Given the description of an element on the screen output the (x, y) to click on. 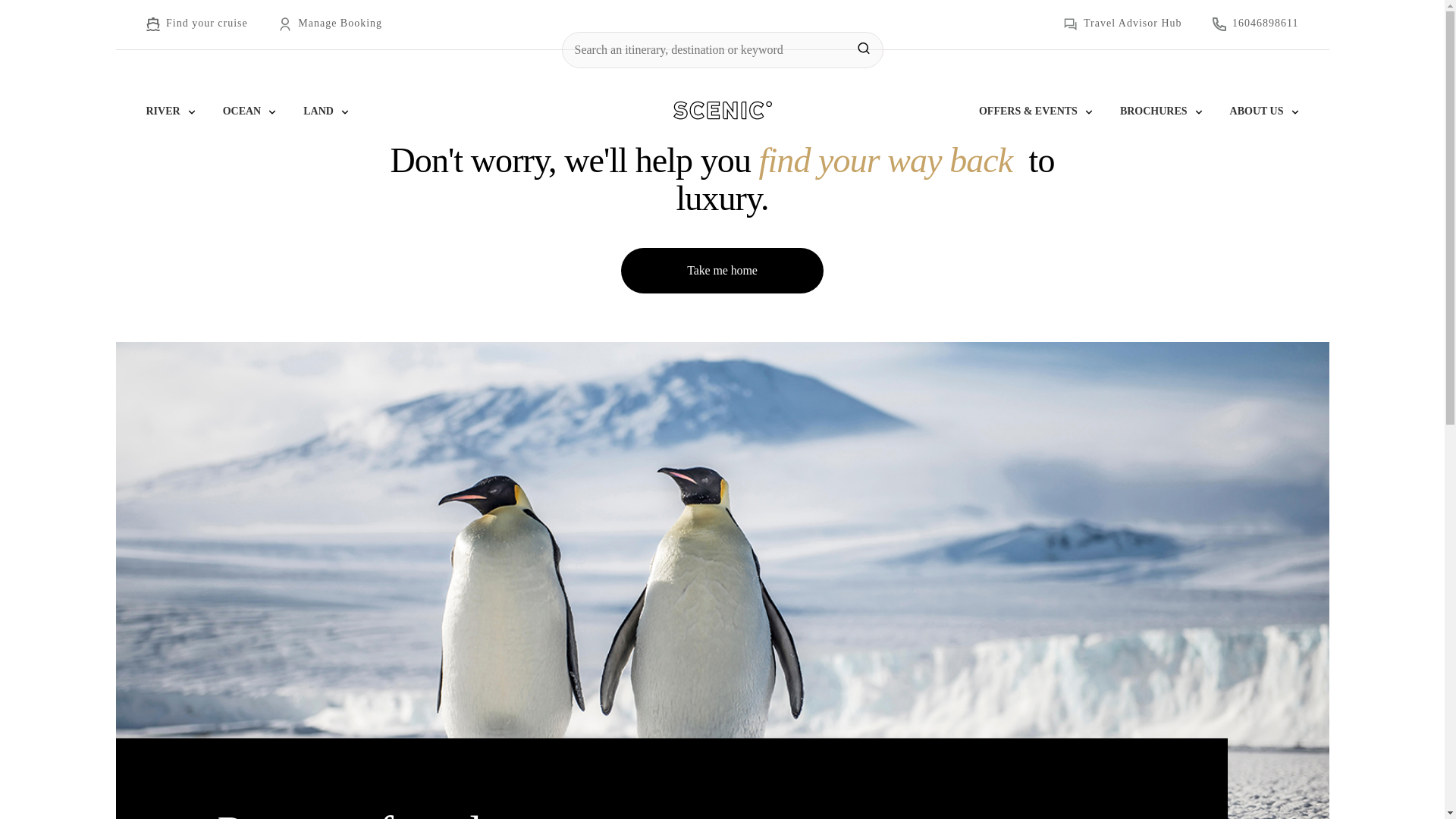
Manage Booking (329, 24)
Travel Advisor Hub (1123, 24)
Find your cruise (196, 24)
